Given the description of an element on the screen output the (x, y) to click on. 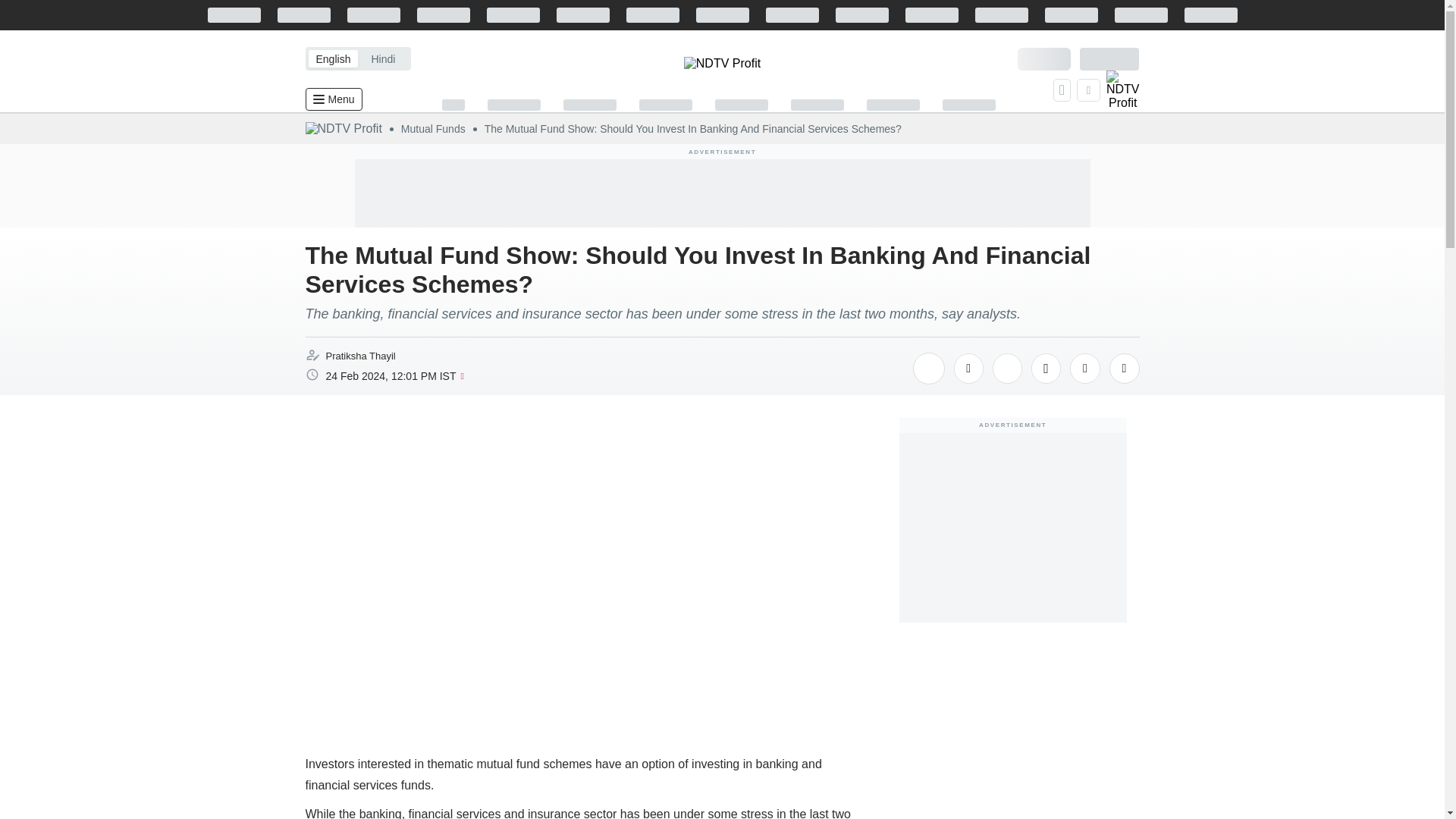
Hindi (382, 58)
English (332, 58)
Hindi (382, 58)
Menu (332, 98)
